Given the description of an element on the screen output the (x, y) to click on. 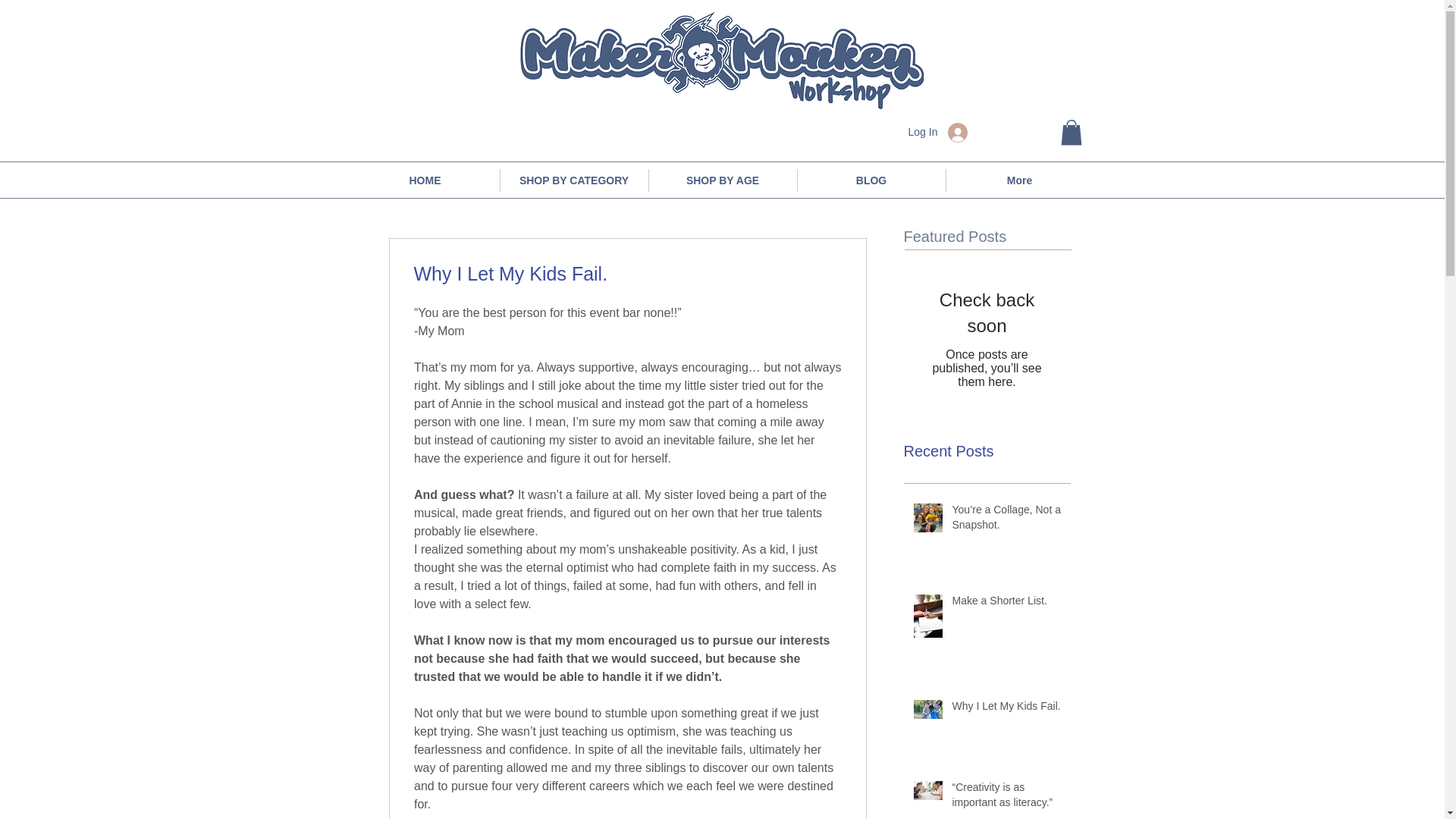
HOME (424, 179)
Make a Shorter List. (1006, 604)
Why I Let My Kids Fail. (1006, 709)
Log In (938, 132)
BLOG (870, 179)
